Given the description of an element on the screen output the (x, y) to click on. 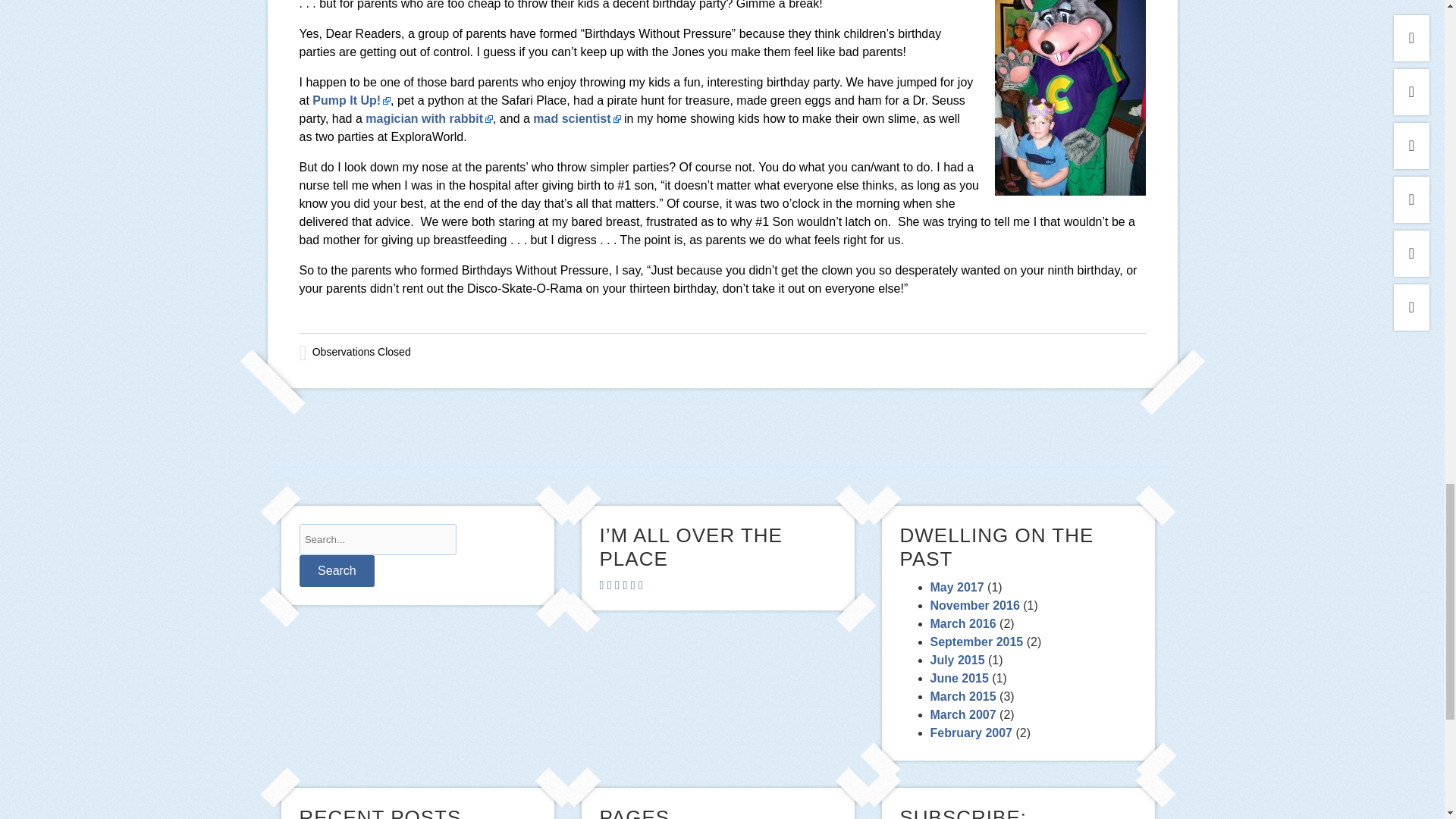
mad scientist (576, 119)
magician with rabbit (429, 119)
Pump It Up! (351, 100)
Search (336, 571)
